Given the description of an element on the screen output the (x, y) to click on. 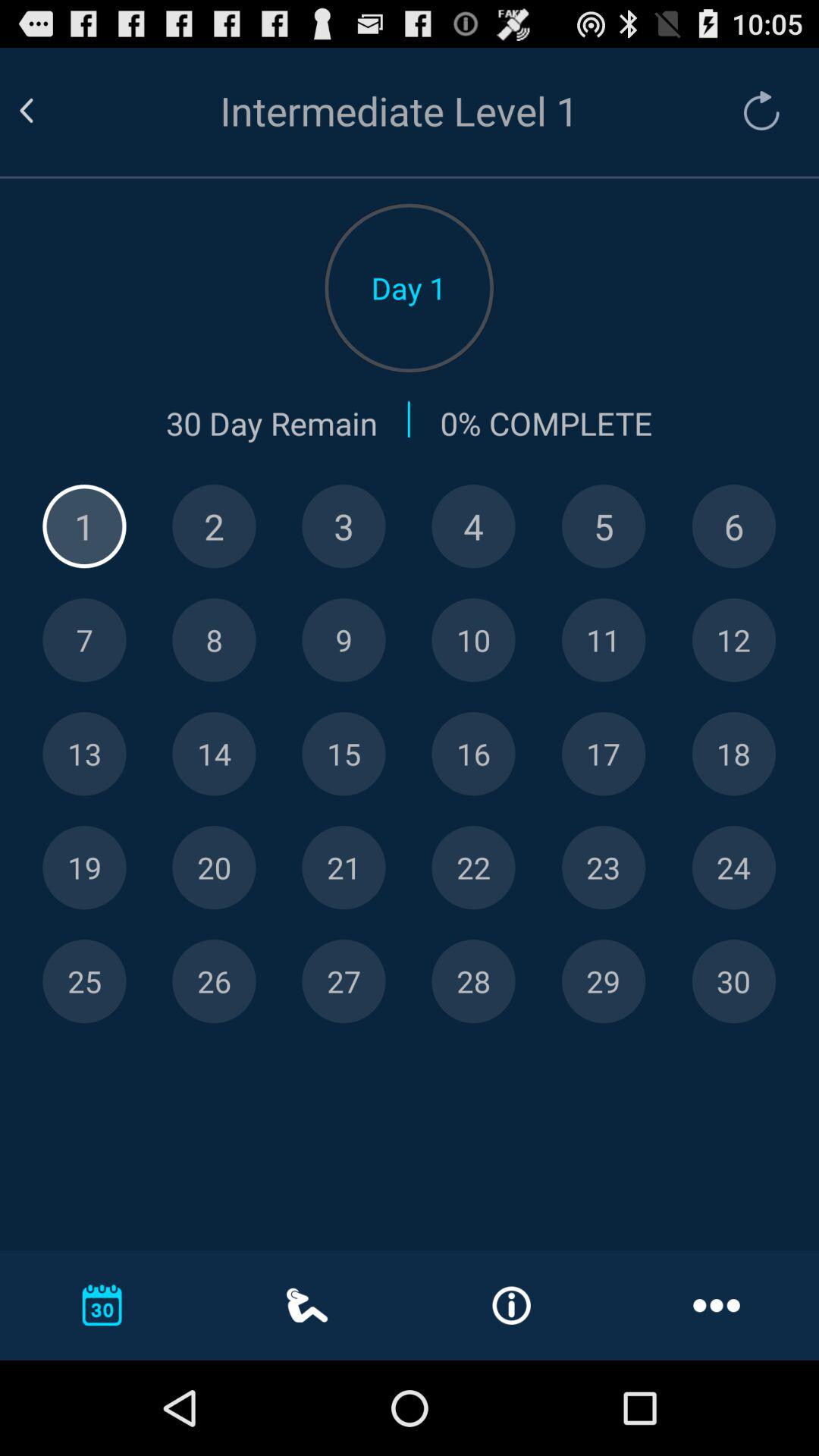
view day 10 (473, 639)
